Given the description of an element on the screen output the (x, y) to click on. 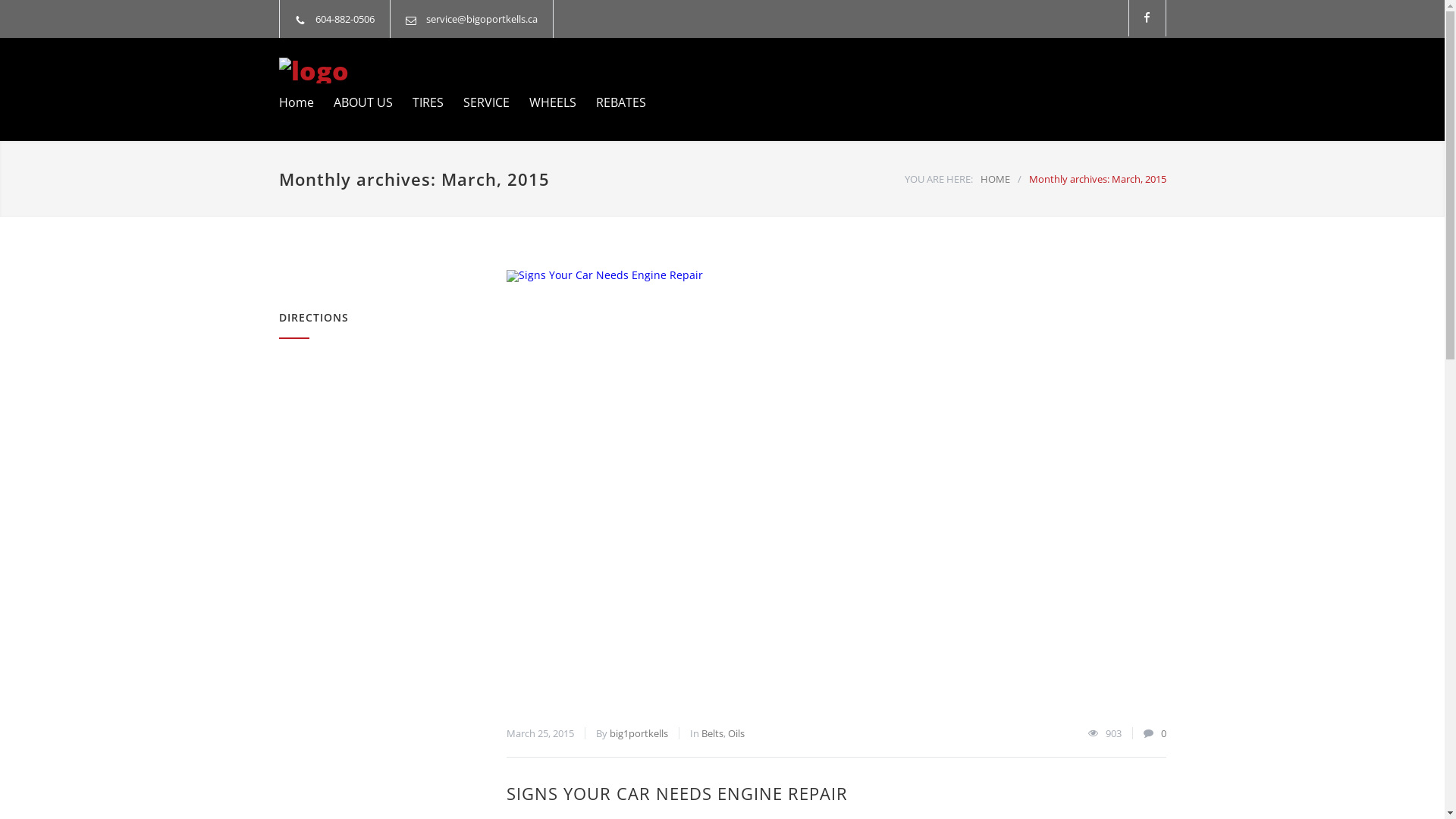
HOME Element type: text (994, 178)
Big O Tires Port Kells Element type: hover (419, 70)
service@bigoportkells.ca Element type: text (481, 18)
0 Element type: text (1162, 733)
SIGNS YOUR CAR NEEDS ENGINE REPAIR Element type: text (676, 792)
TIRES Element type: text (417, 102)
Signs Your Car Needs Engine Repair Element type: hover (836, 489)
SERVICE Element type: text (475, 102)
big1portkells Element type: text (638, 733)
Home Element type: text (296, 102)
WHEELS Element type: text (542, 102)
Belts Element type: text (711, 733)
Oils Element type: text (736, 733)
REBATES Element type: text (611, 102)
ABOUT US Element type: text (352, 102)
